Given the description of an element on the screen output the (x, y) to click on. 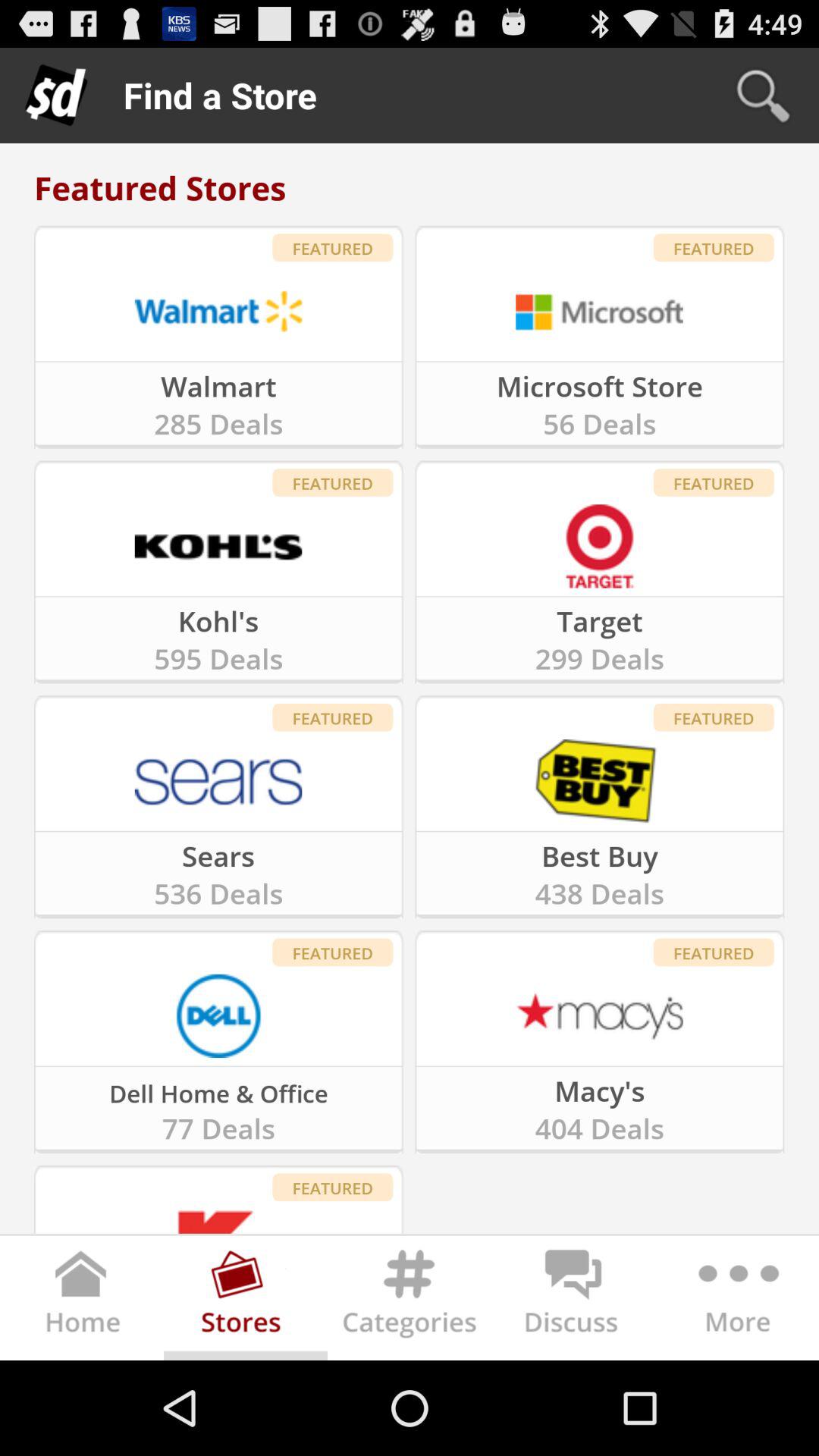
more options (736, 1300)
